Given the description of an element on the screen output the (x, y) to click on. 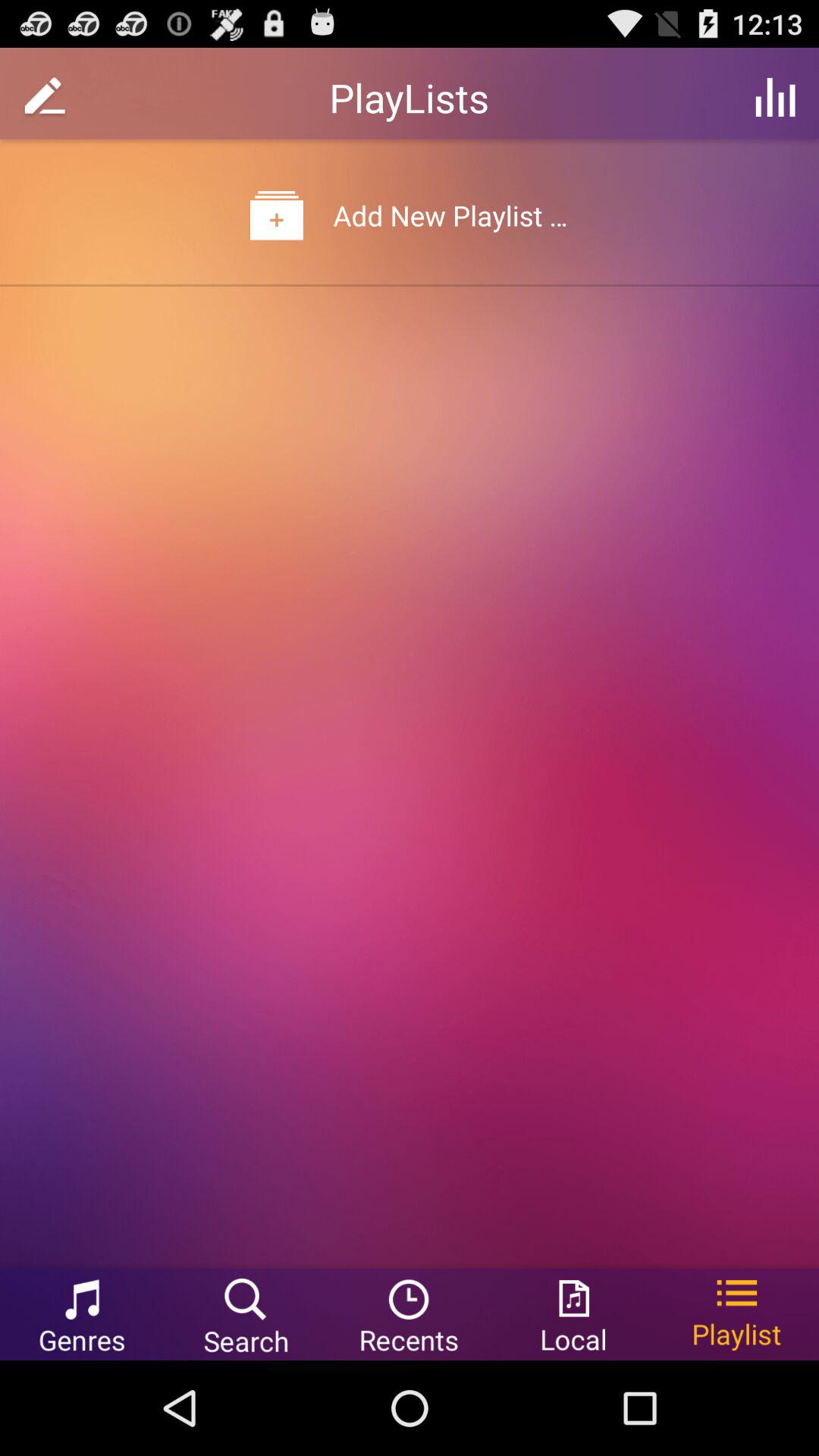
open the icon at the top left corner (44, 97)
